Given the description of an element on the screen output the (x, y) to click on. 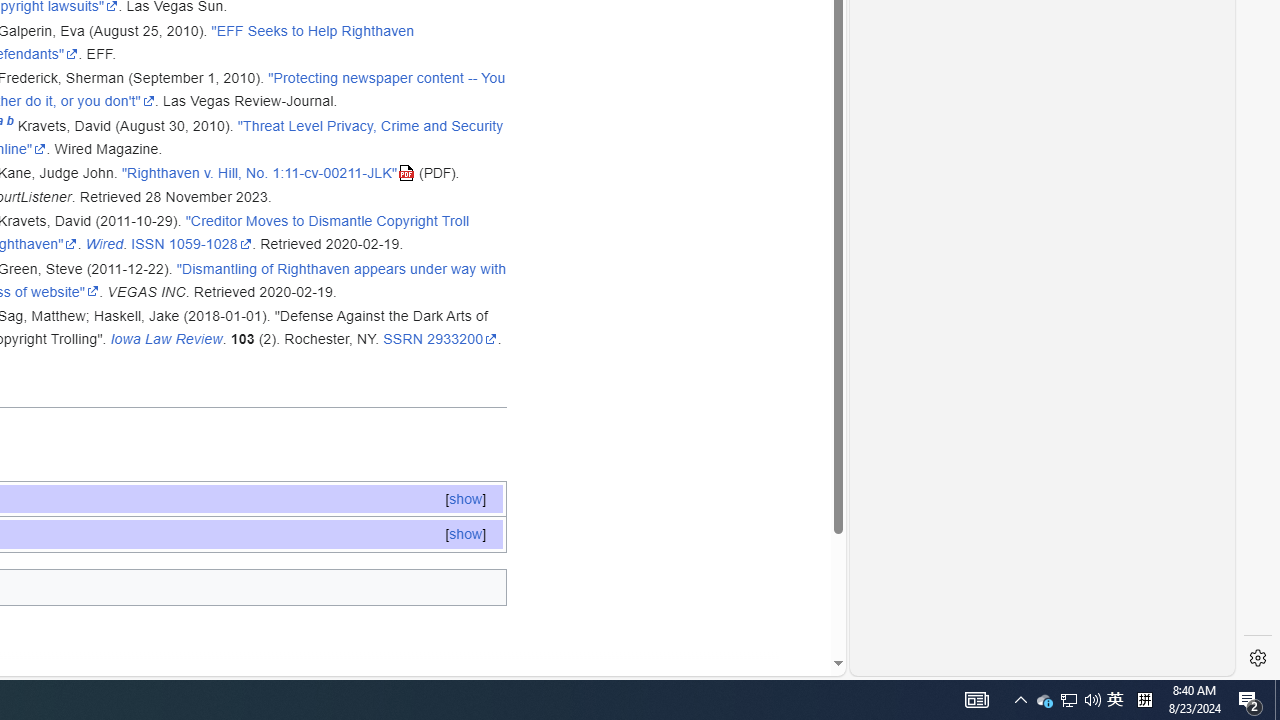
Iowa Law Review (166, 339)
[show] (464, 533)
Settings (1258, 658)
Wired (104, 244)
1059-1028 (210, 244)
b (10, 124)
ISSN (147, 244)
"Righthaven v. Hill, No. 1:11-cv-00211-JLK" (268, 173)
2933200 (462, 339)
SSRN (402, 339)
